Given the description of an element on the screen output the (x, y) to click on. 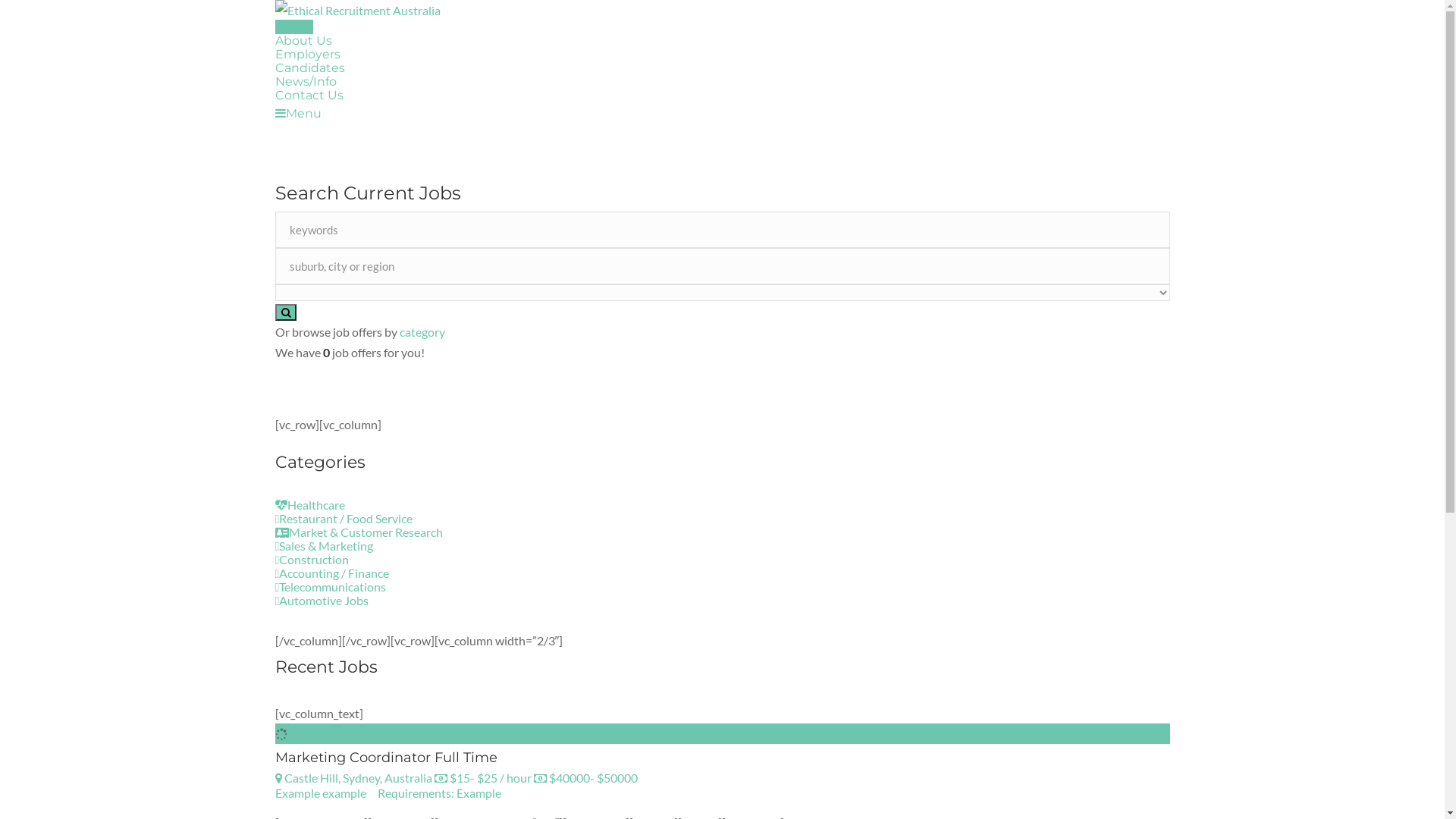
Ethical Recruitment Australia Element type: hover (721, 10)
Telecommunications Element type: text (329, 586)
Construction Element type: text (311, 559)
Candidates Element type: text (309, 67)
About Us Element type: text (302, 40)
Employers Element type: text (306, 54)
Automotive Jobs Element type: text (321, 600)
Healthcare Element type: text (309, 504)
Home Element type: text (293, 26)
Accounting / Finance Element type: text (331, 572)
Menu Element type: text (297, 113)
category Element type: text (421, 331)
Restaurant / Food Service Element type: text (343, 518)
Market & Customer Research Element type: text (358, 531)
Sales & Marketing Element type: text (323, 545)
Contact Us Element type: text (308, 94)
News/Info Element type: text (304, 81)
